Given the description of an element on the screen output the (x, y) to click on. 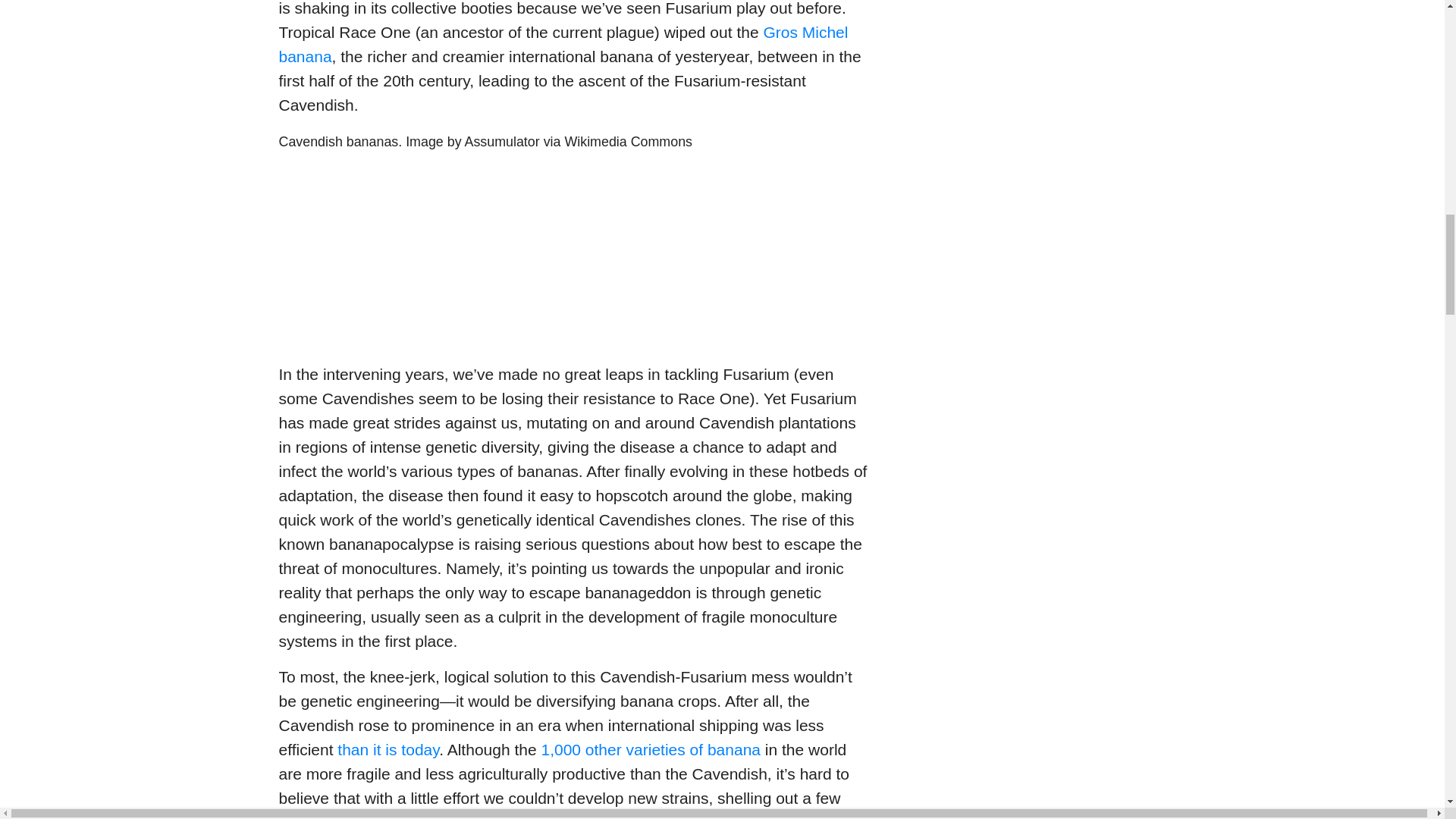
Gros Michel banana (563, 44)
1,000 other varieties of banana (650, 749)
than it is today (388, 749)
